Given the description of an element on the screen output the (x, y) to click on. 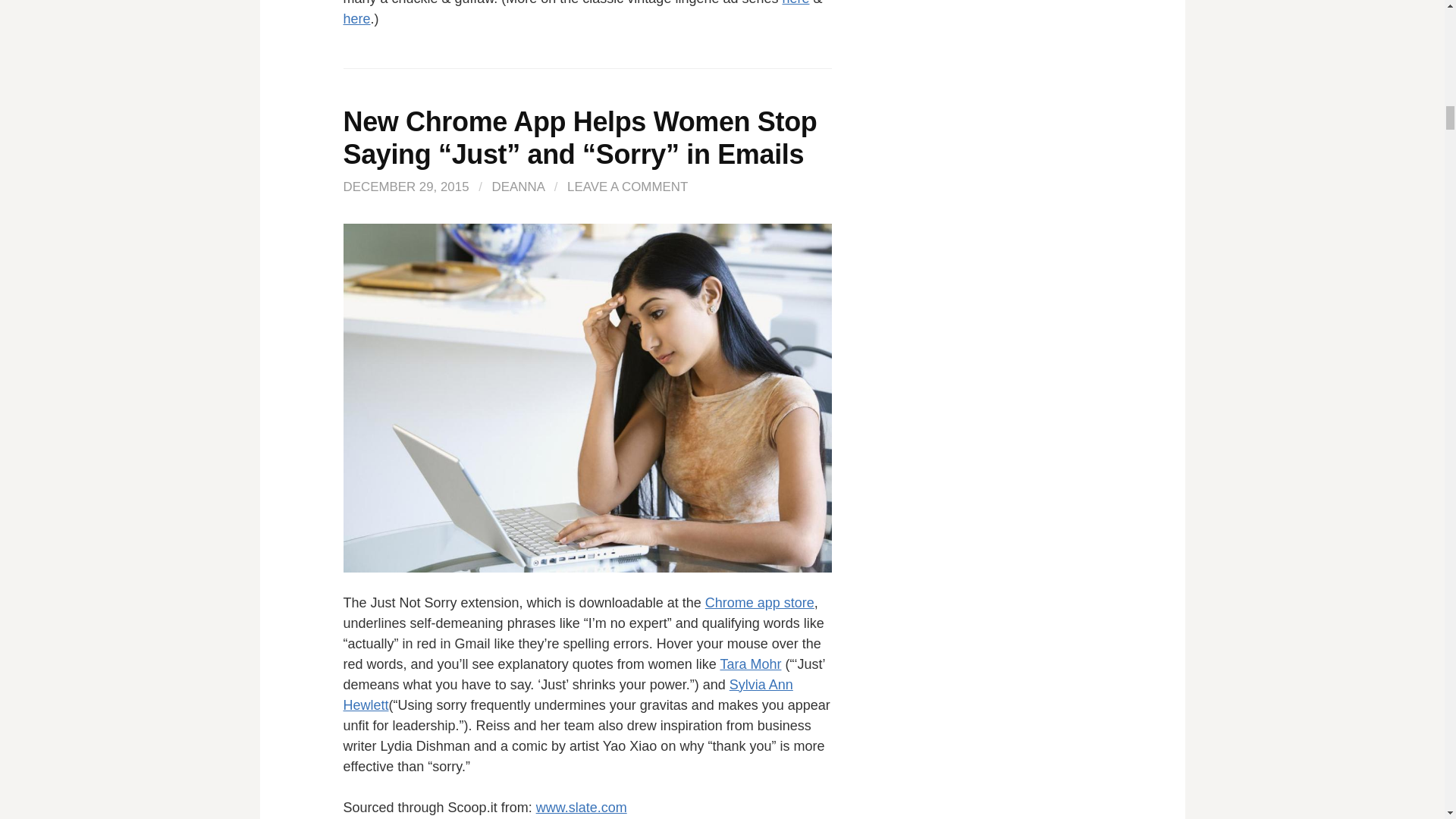
LEAVE A COMMENT (627, 186)
Tara Mohr (749, 663)
www.slate.com (581, 807)
DEANNA (518, 186)
Chrome app store (758, 602)
here (795, 2)
Sylvia Ann Hewlett (567, 694)
DECEMBER 29, 2015 (405, 186)
here (355, 18)
